Given the description of an element on the screen output the (x, y) to click on. 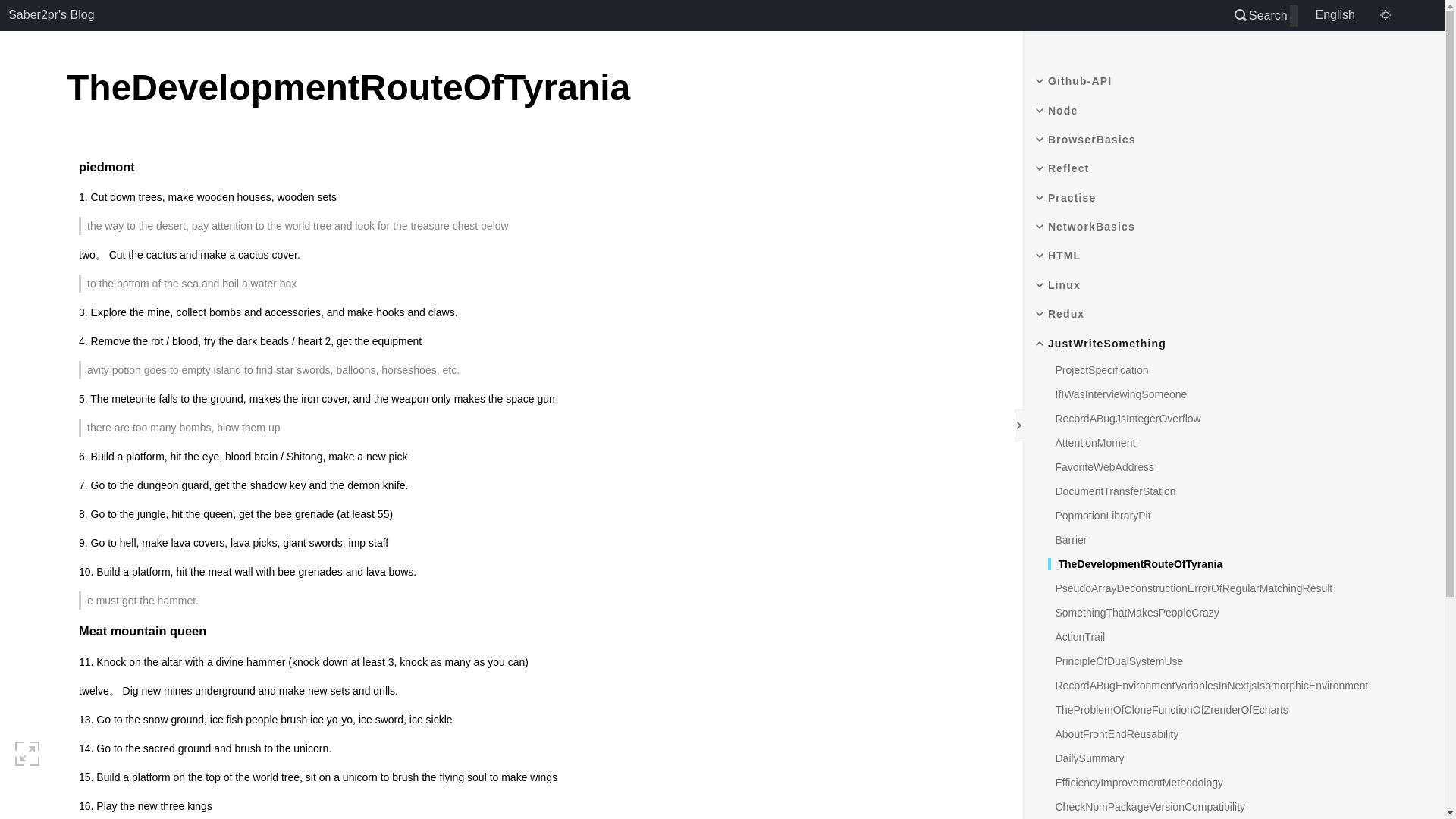
Search notes (1262, 15)
ActionTrail (1076, 636)
RecordABugJsIntegerOverflow (1124, 418)
DailySummary (1086, 758)
TheDevelopmentRouteOfTyrania (1135, 563)
IfIWasInterviewingSomeone (1118, 394)
FavoriteWebAddress (1101, 467)
Day mode (1384, 15)
SomethingThatMakesPeopleCrazy (1134, 612)
RecordABugEnvironmentVariablesInNextjsIsomorphicEnvironment (1208, 685)
